Given the description of an element on the screen output the (x, y) to click on. 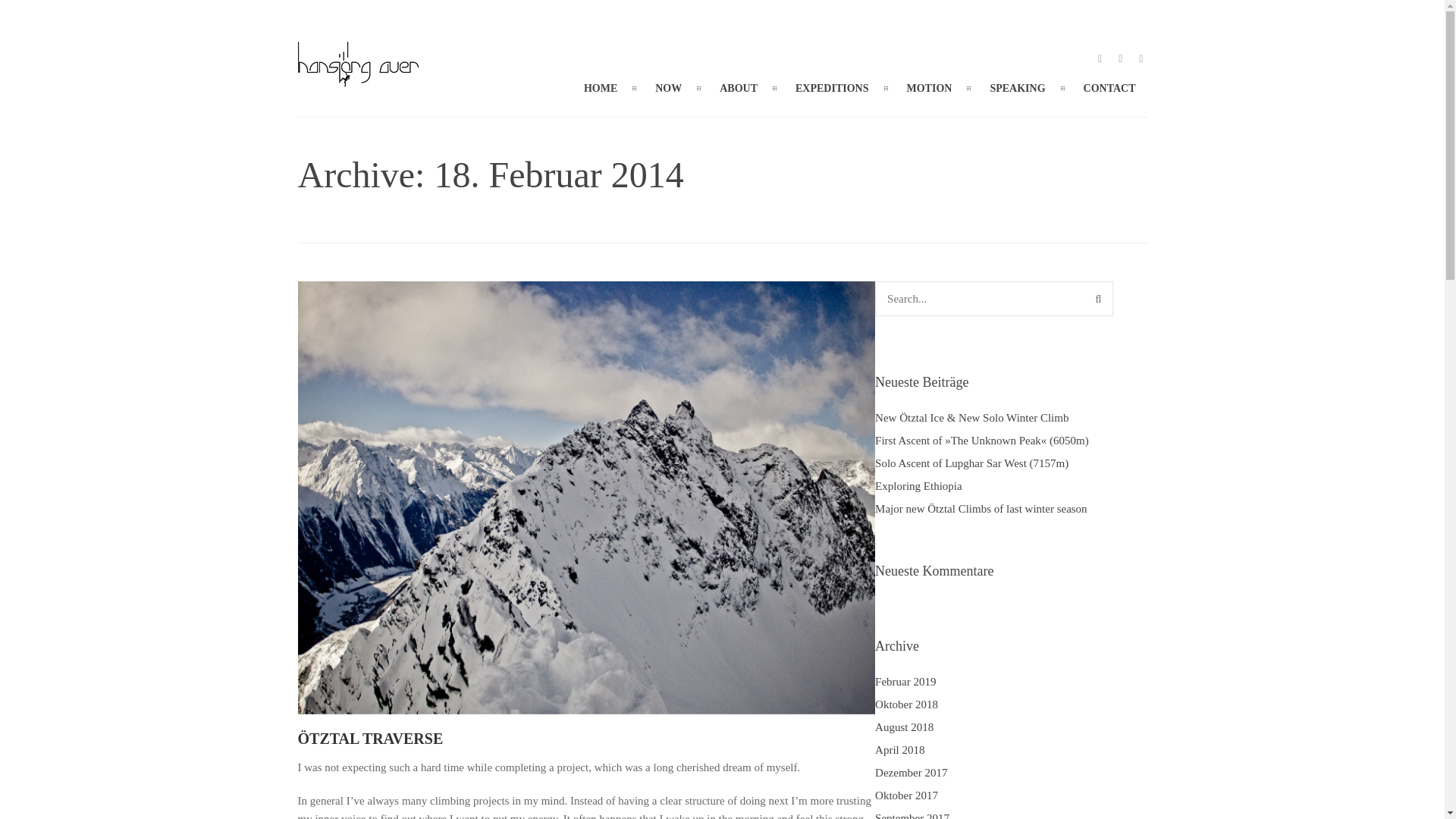
Exploring Ethiopia (918, 485)
NOW (668, 87)
Oktober 2018 (906, 704)
ABOUT (737, 87)
Oktober 2017 (906, 795)
August 2018 (904, 727)
CONTACT (1109, 87)
MOTION (928, 87)
SPEAKING (1017, 87)
Dezember 2017 (911, 772)
Search (1097, 298)
September 2017 (912, 815)
EXPEDITIONS (831, 87)
HOME (600, 87)
Februar 2019 (905, 681)
